Given the description of an element on the screen output the (x, y) to click on. 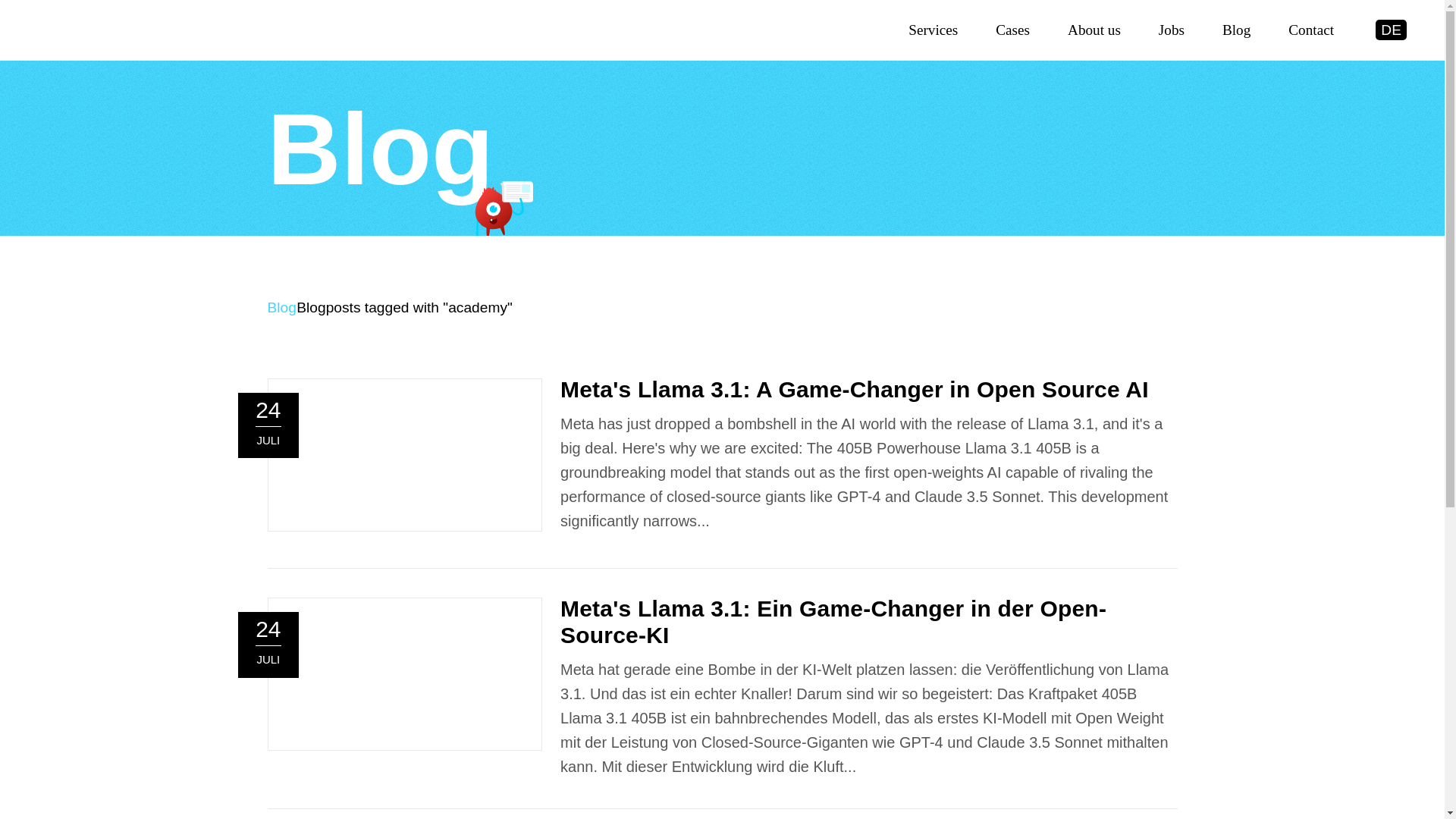
Contact (1310, 31)
Blog (280, 307)
Cases (1012, 31)
Scandio (94, 35)
Services (933, 31)
DE (1390, 29)
Jobs (1171, 31)
Meta's Llama 3.1: Ein Game-Changer in der Open-Source-KI (833, 621)
Meta's Llama 3.1: A Game-Changer in Open Source AI (854, 389)
About us (1094, 31)
Blog (1236, 31)
